Given the description of an element on the screen output the (x, y) to click on. 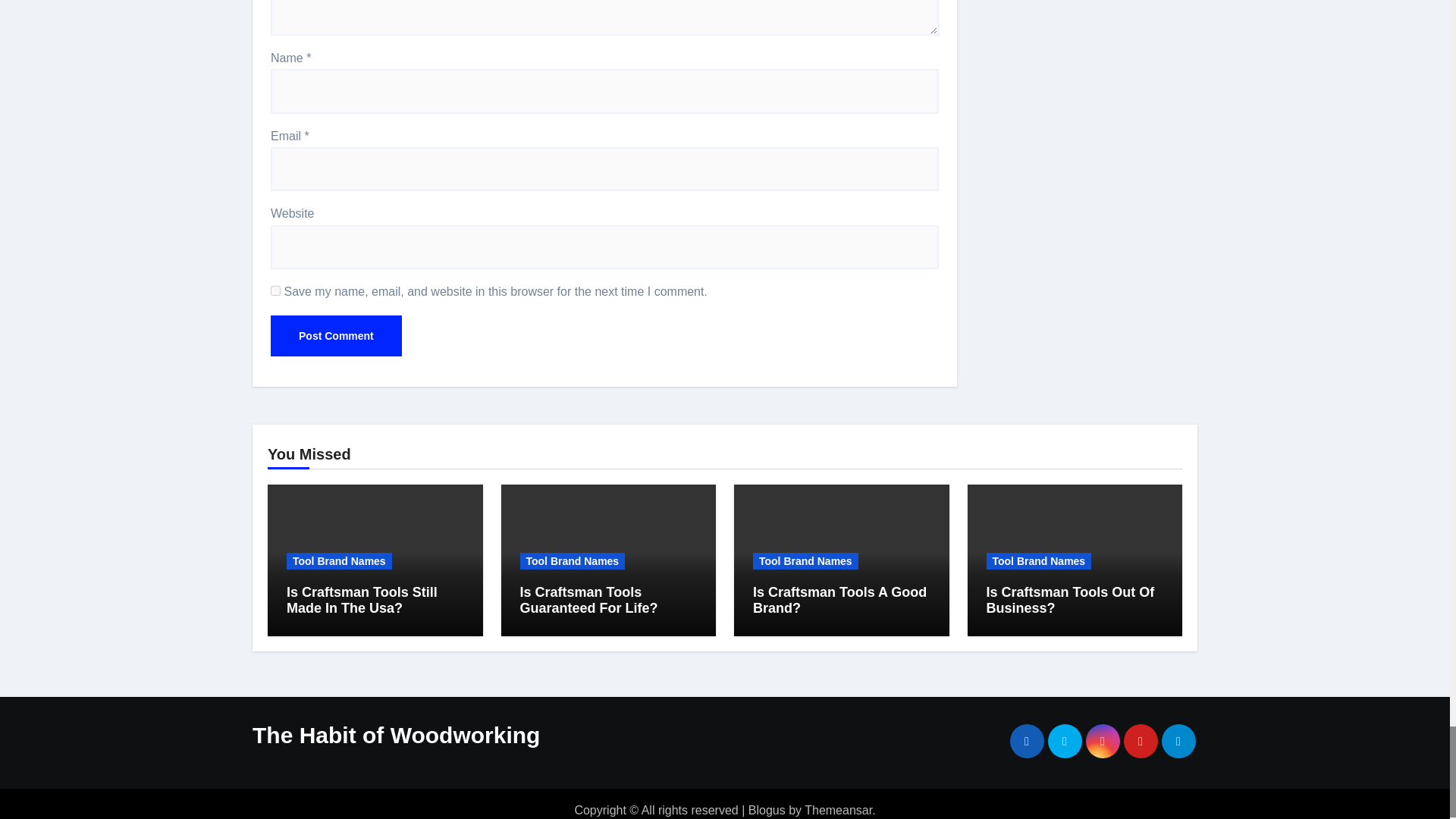
yes (275, 290)
Permalink to: Is Craftsman Tools Guaranteed For Life? (588, 600)
Post Comment (335, 335)
Permalink to: Is Craftsman Tools A Good Brand? (839, 600)
Permalink to: Is Craftsman Tools Out Of Business? (1069, 600)
Permalink to: Is Craftsman Tools Still Made In The Usa? (362, 600)
